Given the description of an element on the screen output the (x, y) to click on. 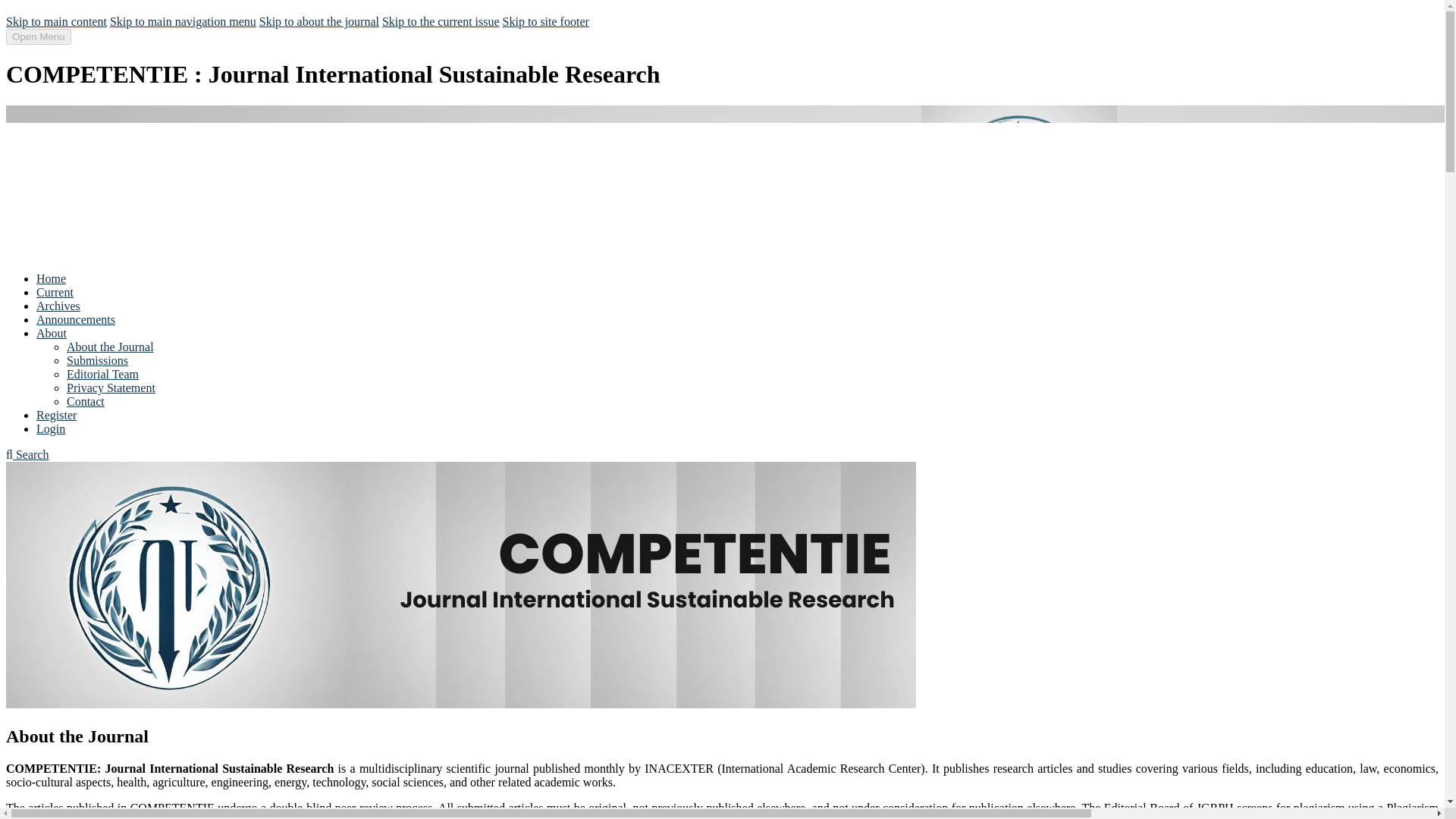
Submissions (97, 359)
About the Journal (110, 346)
Search (26, 454)
Login (50, 428)
Skip to about the journal (318, 21)
Archives (58, 305)
Editorial Team (102, 373)
Announcements (75, 318)
About (51, 332)
Open Menu (38, 36)
